Given the description of an element on the screen output the (x, y) to click on. 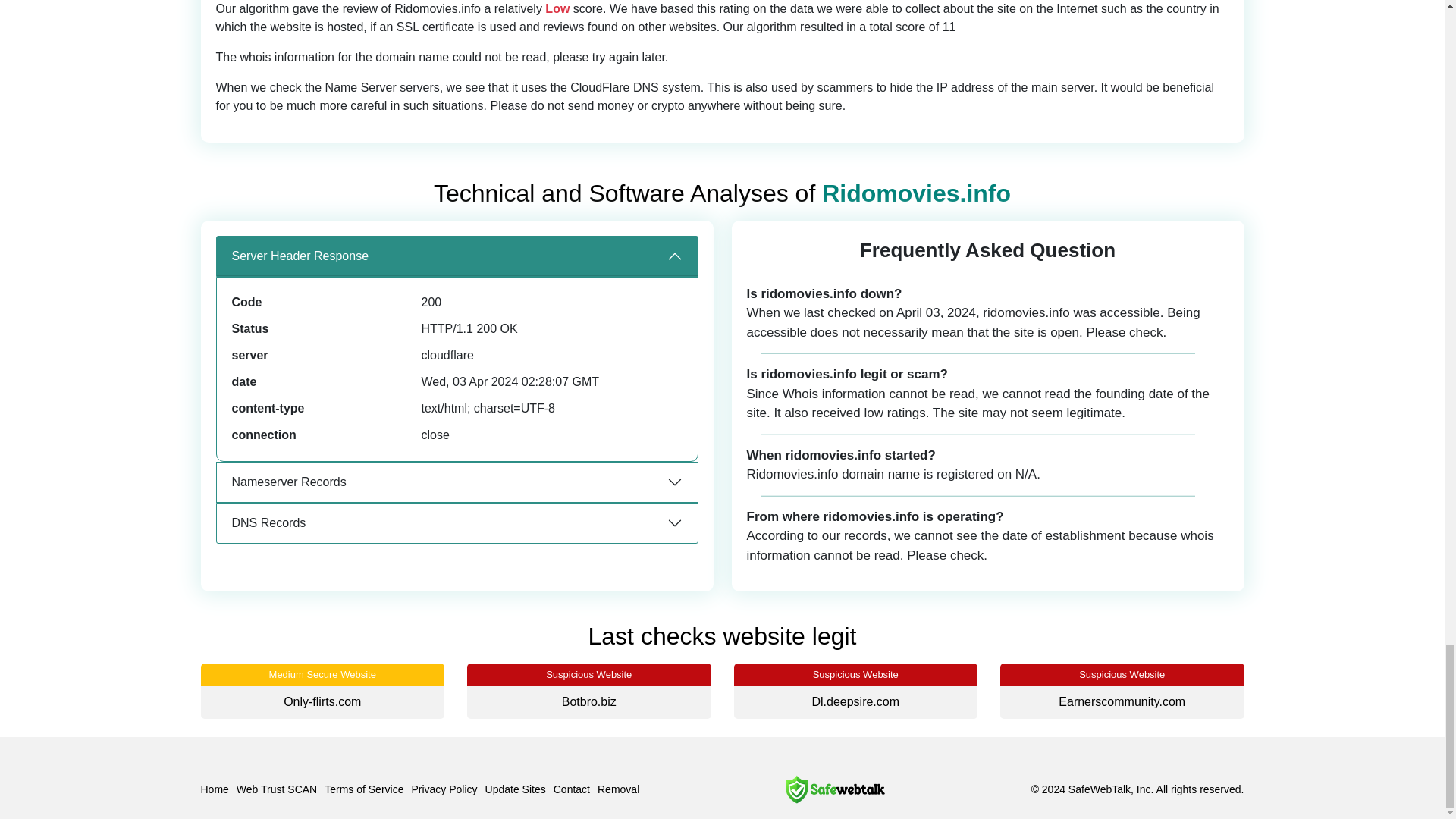
Only-flirts.com (322, 701)
Earnerscommunity.com (1121, 701)
Nameserver Records (456, 481)
Botbro.biz (588, 701)
Economiques.eu (1388, 701)
Server Header Response (456, 255)
DNS Records (456, 522)
Dl.deepsire.com (854, 701)
Web Trust SCAN (276, 788)
